Given the description of an element on the screen output the (x, y) to click on. 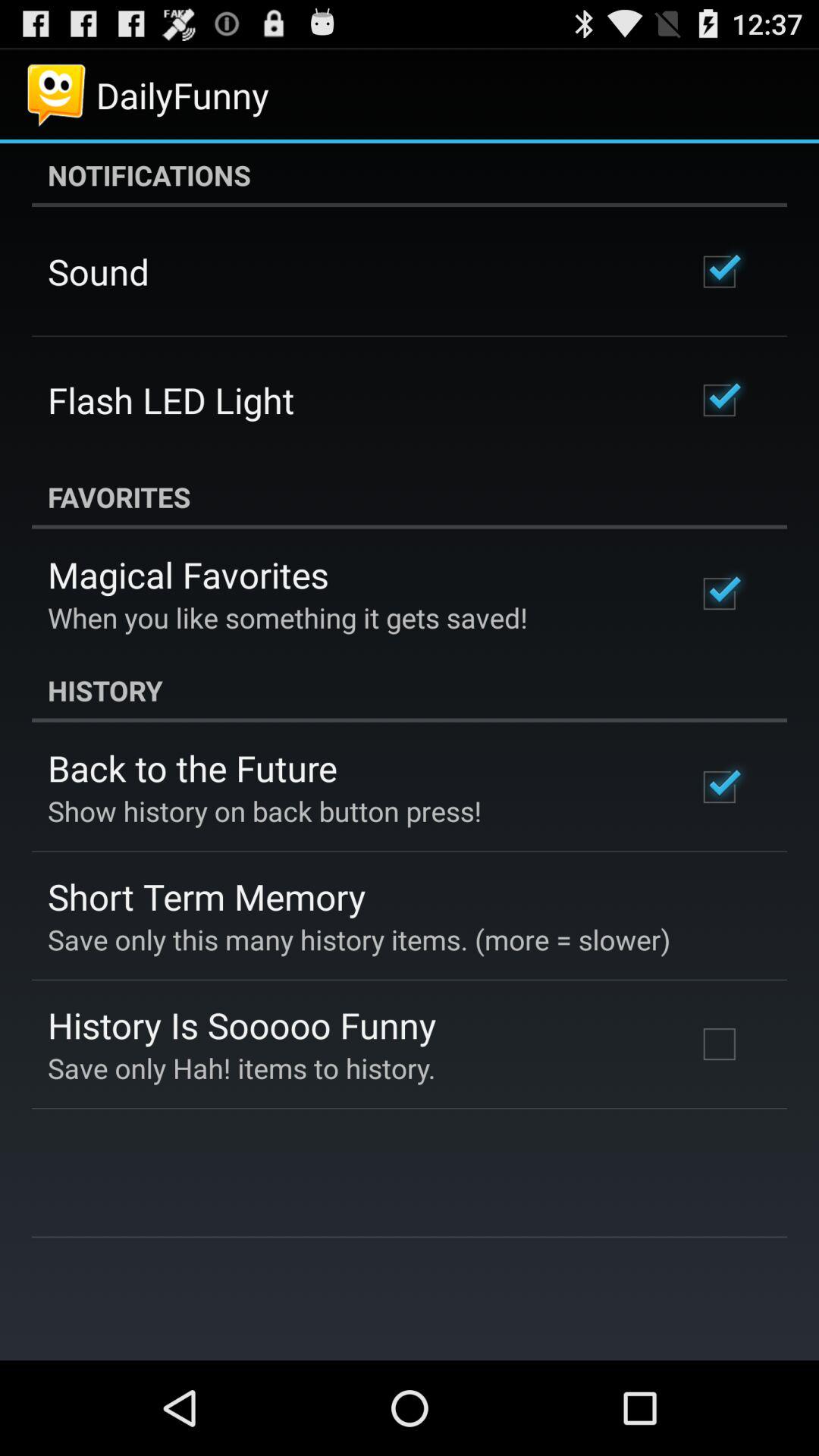
click the app below the save only this (241, 1025)
